Given the description of an element on the screen output the (x, y) to click on. 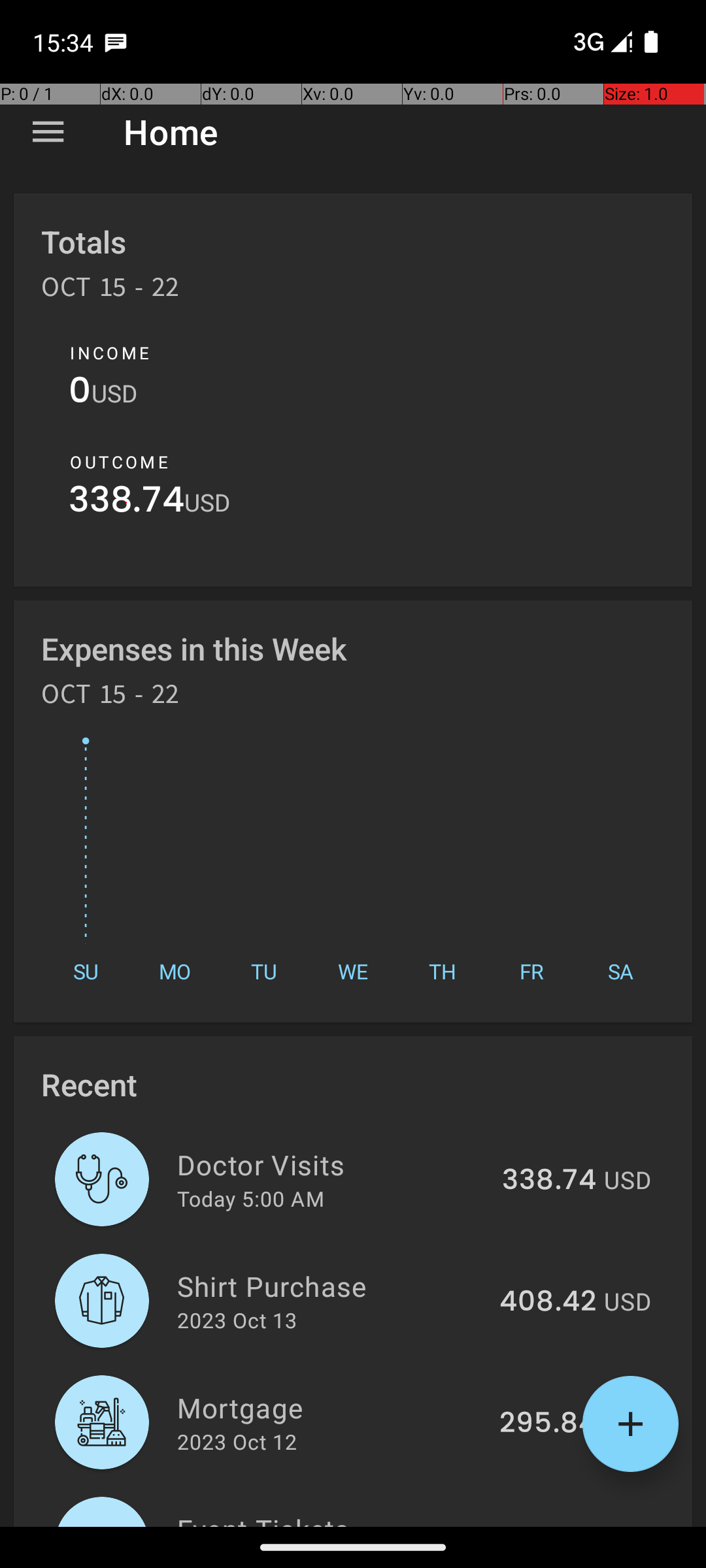
Totals Element type: android.widget.TextView (83, 240)
OCT 15 - 22 Element type: android.widget.TextView (110, 291)
INCOME Element type: android.widget.TextView (109, 352)
OUTCOME Element type: android.widget.TextView (118, 461)
338.74 Element type: android.widget.TextView (126, 502)
Expenses in this Week Element type: android.widget.TextView (194, 648)
Recent Element type: android.widget.TextView (89, 1083)
Doctor Visits Element type: android.widget.TextView (331, 1164)
Today 5:00 AM Element type: android.widget.TextView (250, 1198)
Shirt Purchase Element type: android.widget.TextView (330, 1285)
2023 Oct 13 Element type: android.widget.TextView (236, 1320)
408.42 Element type: android.widget.TextView (547, 1301)
Mortgage Element type: android.widget.TextView (330, 1407)
2023 Oct 12 Element type: android.widget.TextView (236, 1441)
295.84 Element type: android.widget.TextView (547, 1423)
Event Tickets Element type: android.widget.TextView (347, 1518)
50.6 Element type: android.widget.TextView (564, 1524)
